Given the description of an element on the screen output the (x, y) to click on. 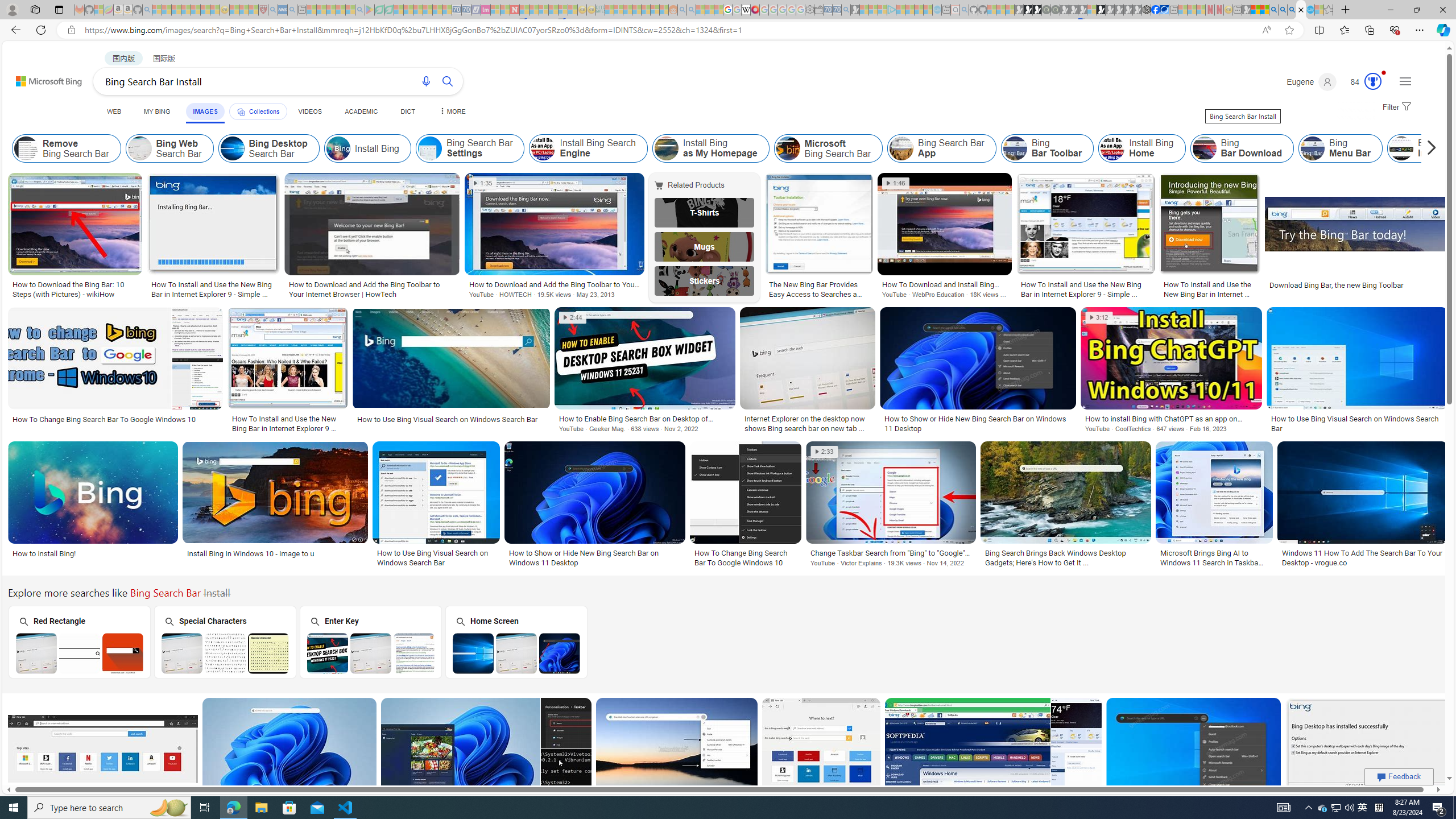
Future Focus Report 2024 - Sleeping (1054, 9)
Bing Search Bar Special Characters Special Characters (224, 642)
AutomationID: rh_meter (1372, 80)
Play Zoo Boom in your browser | Games from Microsoft Start (1027, 9)
Image result for Bing Search Bar Install (1366, 748)
Bing Web Search Bar (168, 148)
Bing Search Bar On Home Screen Home Screen (515, 642)
Install Bing Home (1112, 148)
